Given the description of an element on the screen output the (x, y) to click on. 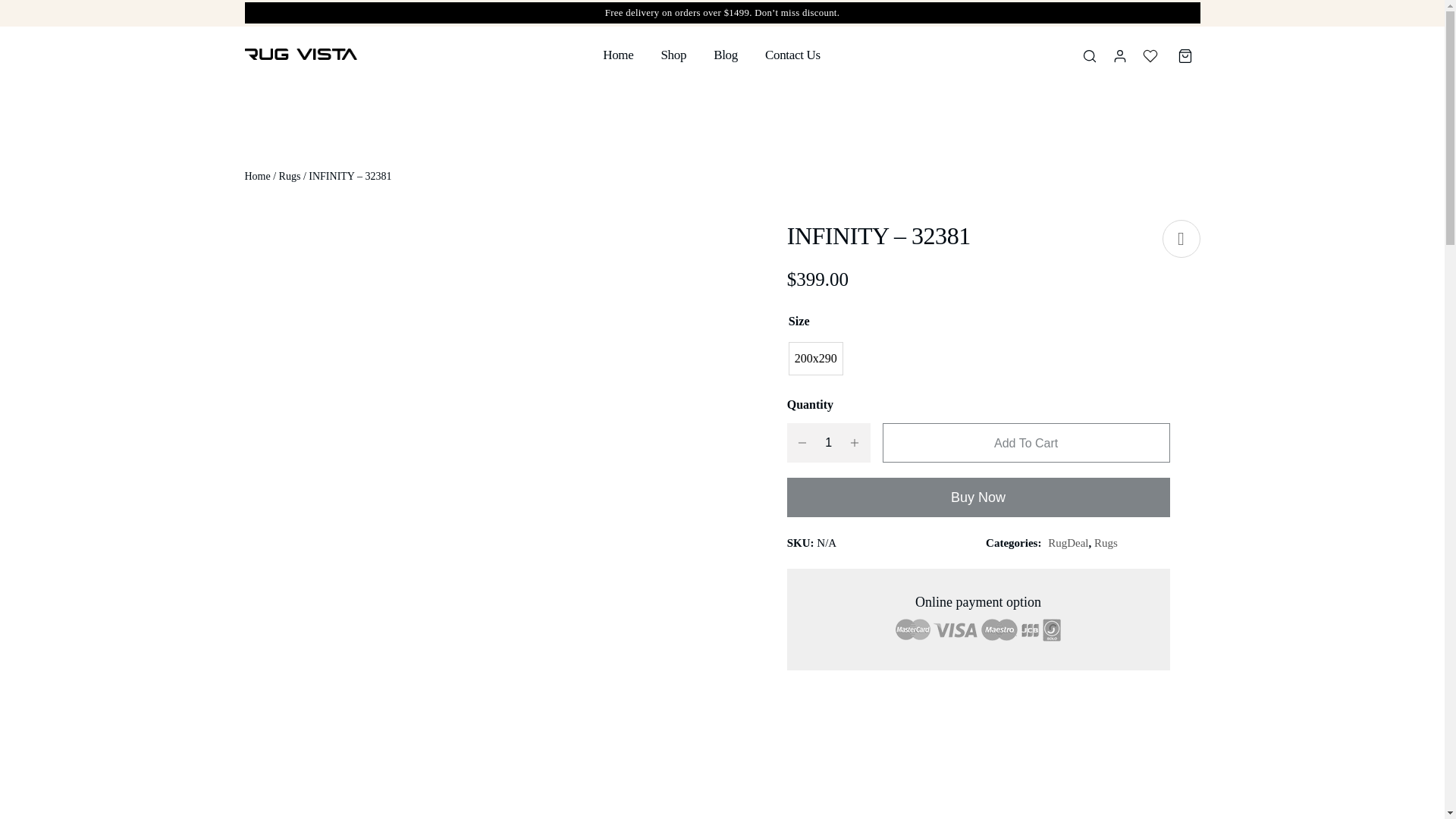
Home (617, 54)
Add To Cart (1026, 442)
200x290 (816, 358)
Shop (673, 54)
Qty (828, 443)
Buy Now (978, 496)
Home (256, 175)
Blog (725, 54)
1 (828, 443)
Rugs (290, 175)
